Given the description of an element on the screen output the (x, y) to click on. 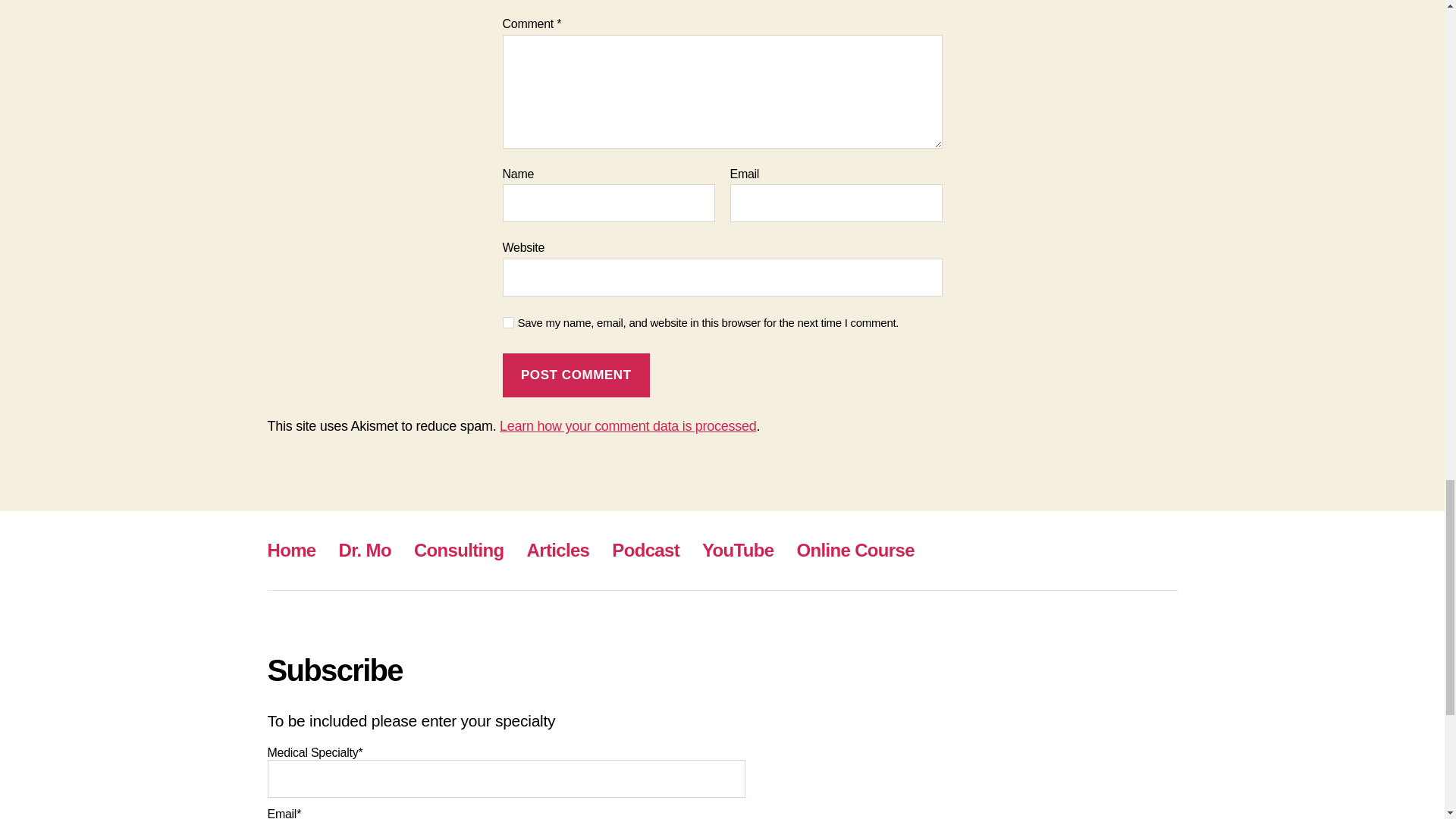
Post Comment (575, 375)
Home (290, 549)
Consulting (458, 549)
yes (507, 322)
Dr. Mo (365, 549)
Post Comment (575, 375)
Learn how your comment data is processed (627, 426)
A little about me and my timeline. (365, 549)
